Given the description of an element on the screen output the (x, y) to click on. 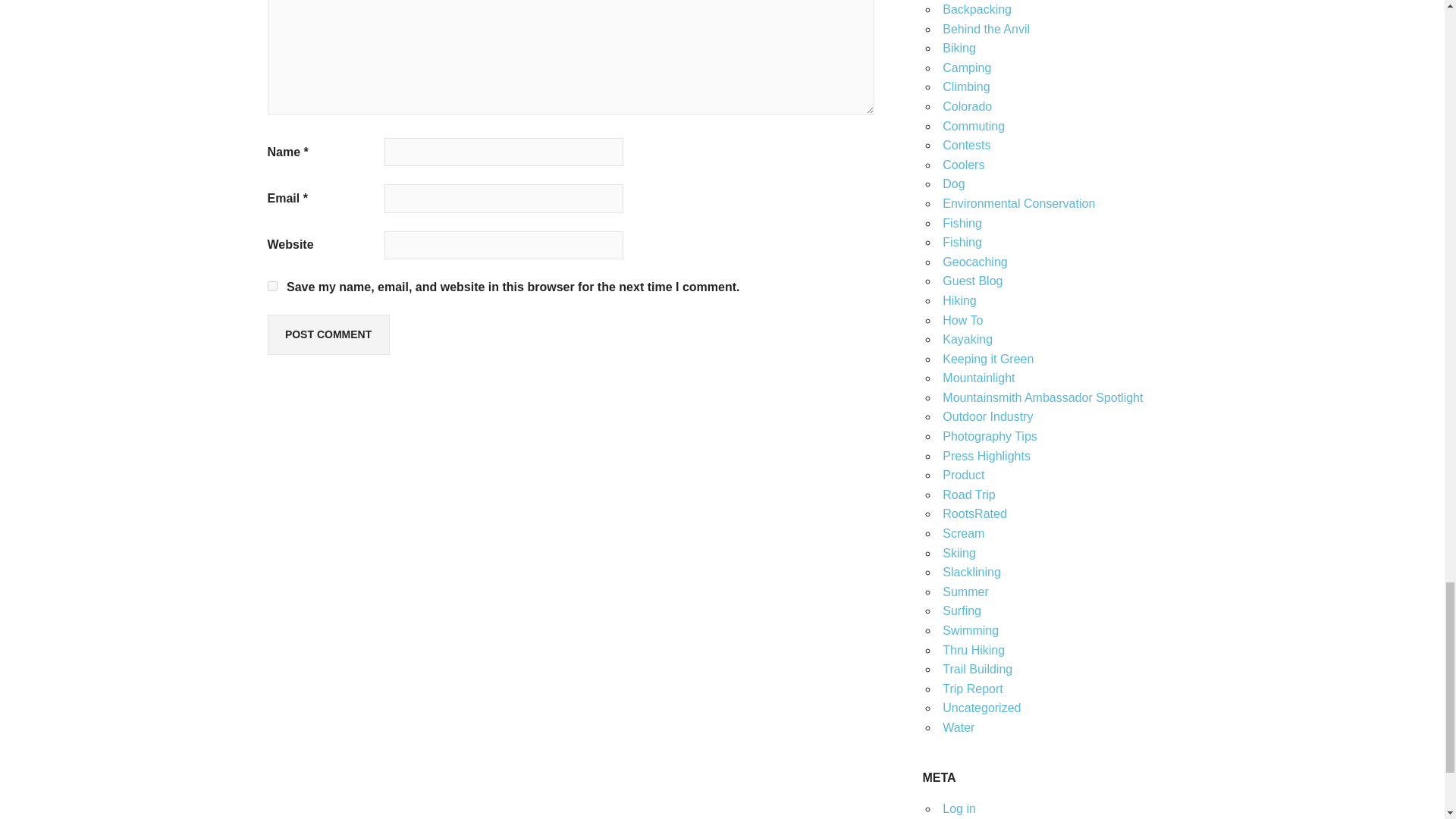
yes (271, 286)
Post Comment (327, 333)
Post Comment (327, 333)
